Given the description of an element on the screen output the (x, y) to click on. 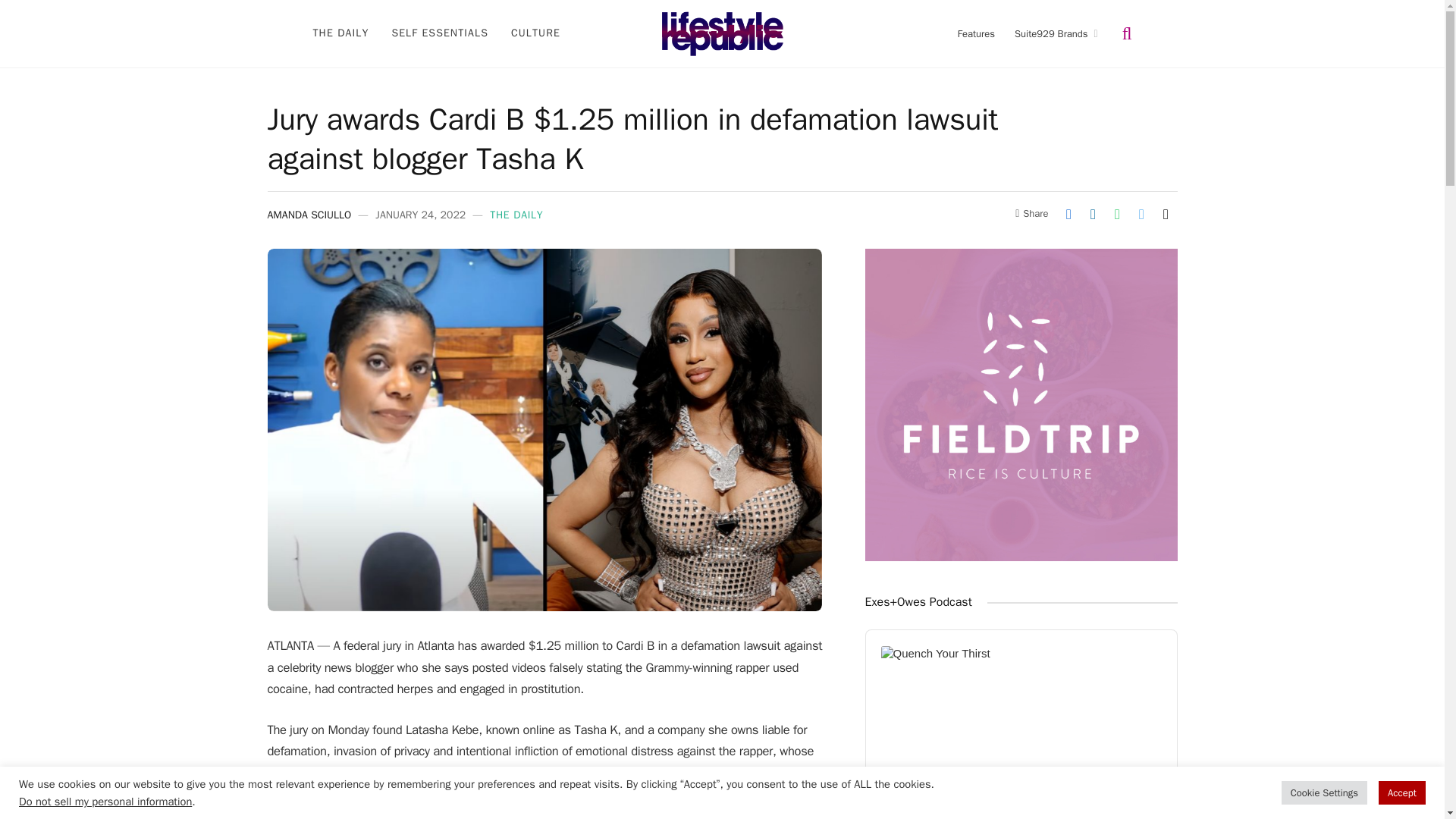
AMANDA SCIULLO (308, 214)
CULTURE (535, 33)
Suite929 Brands (1056, 33)
Share on LinkedIn (1092, 213)
SELF ESSENTIALS (439, 33)
Lifestyle Republic (721, 33)
Share on Facebook (1068, 213)
THE DAILY (340, 33)
Share on WhatsApp (1116, 213)
Share via Email (1165, 213)
